Given the description of an element on the screen output the (x, y) to click on. 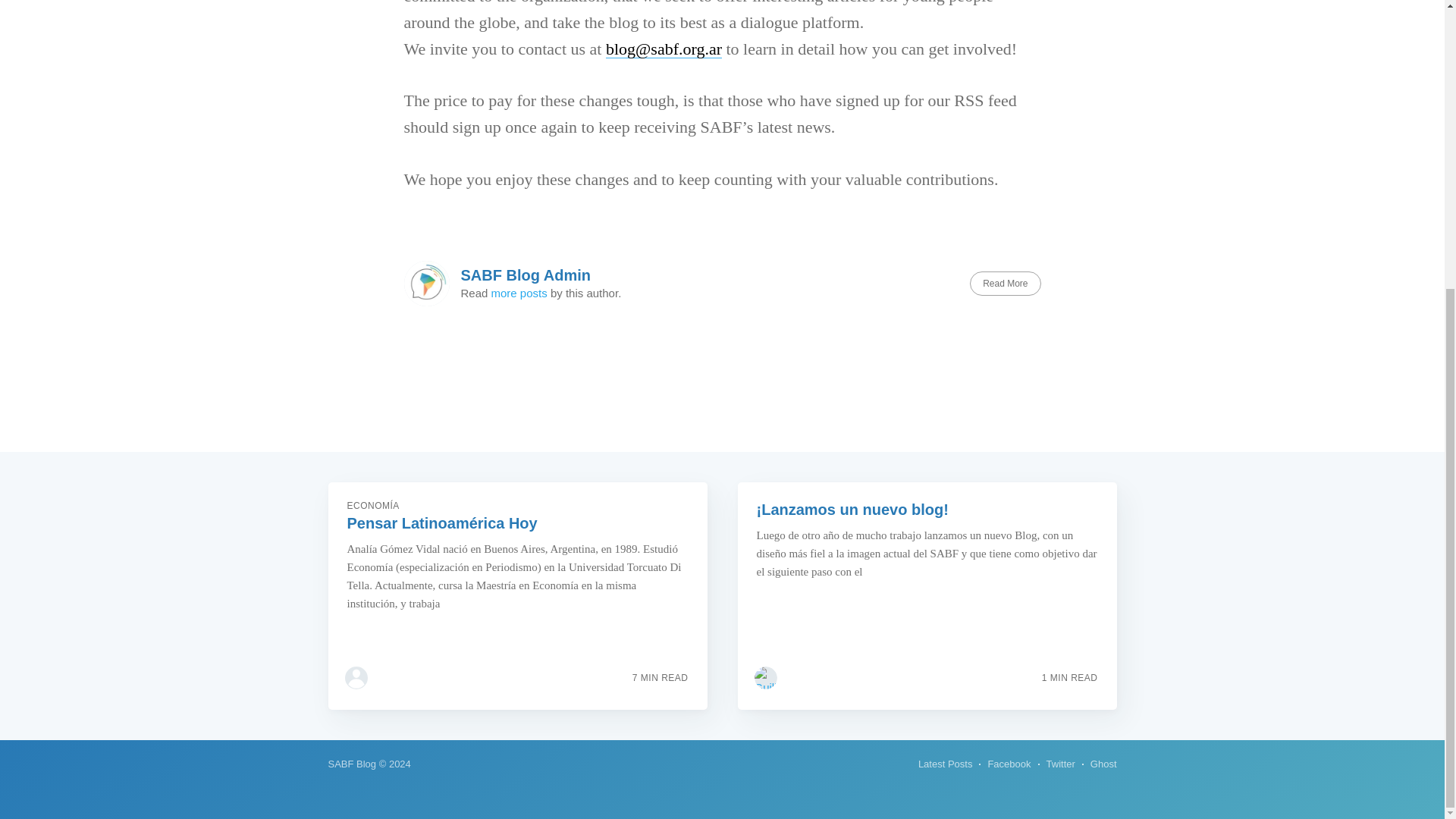
SABF Blog (351, 763)
Latest Posts (945, 764)
Ghost (1103, 764)
Facebook (1008, 764)
more posts (519, 292)
Twitter (1060, 764)
Read More (1005, 283)
SABF Blog Admin (526, 274)
